Given the description of an element on the screen output the (x, y) to click on. 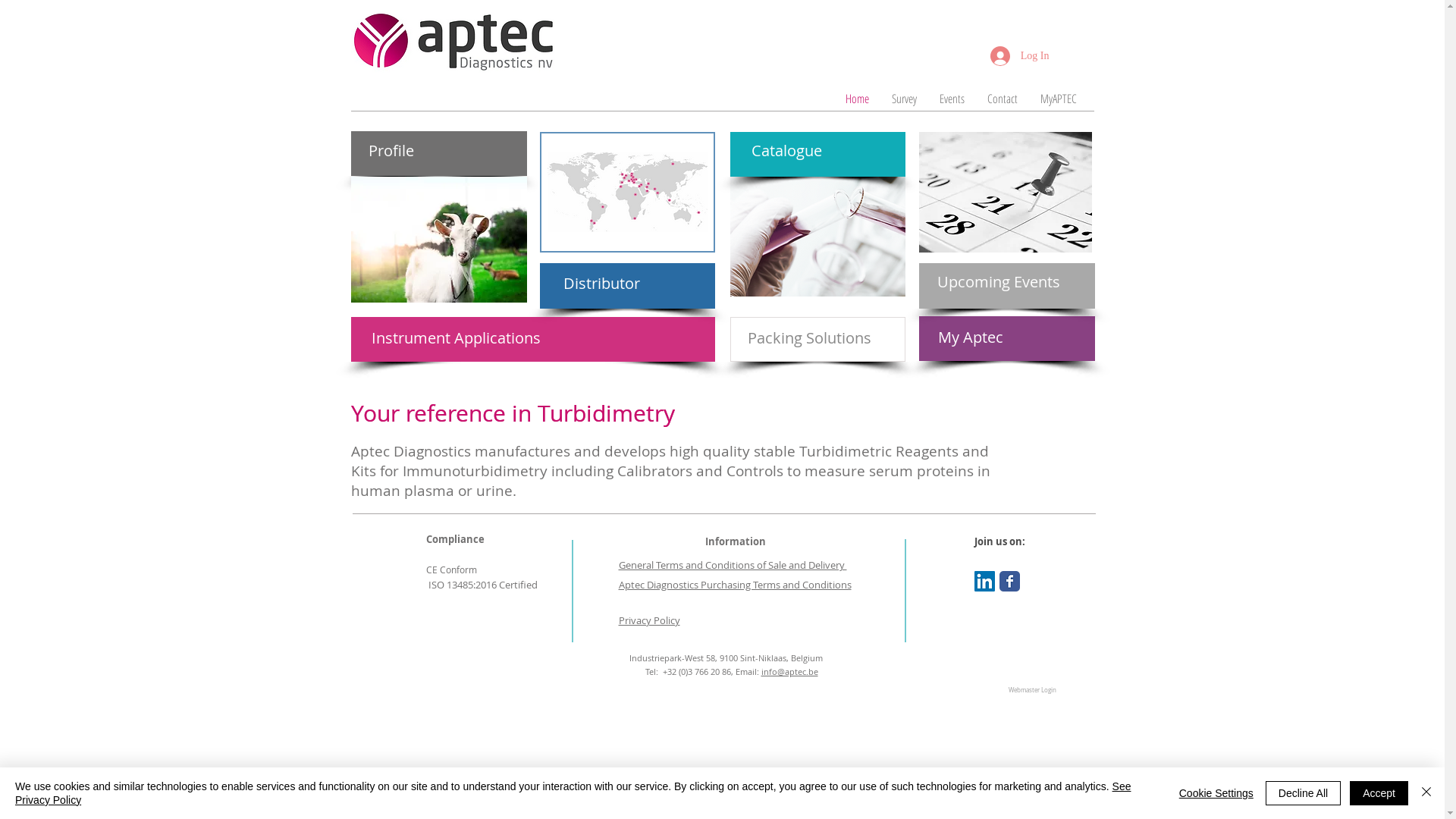
Upcoming Events Element type: text (1000, 281)
My Aptec Element type: text (978, 337)
Log In Element type: text (1019, 55)
info@aptec.be Element type: text (789, 671)
Distributor Element type: text (603, 283)
Survey Element type: text (903, 98)
Events Element type: text (951, 98)
Contact Element type: text (1001, 98)
Aptec Diagnostics Purchasing Terms and Conditions Element type: text (734, 583)
ISO 13485:2016 Certified Element type: text (482, 584)
General Terms and Conditions of Sale and Delivery  Element type: text (732, 563)
aptec-logo-final.png Element type: hover (453, 40)
Instrument Applications Element type: text (457, 337)
Profile Element type: text (409, 150)
MyAPTEC Element type: text (1057, 98)
Decline All Element type: text (1302, 793)
Webmaster Login Element type: text (1031, 690)
Accept Element type: text (1378, 793)
Packing Solutions Element type: text (810, 337)
Catalogue Element type: text (791, 150)
Home Element type: text (857, 98)
See Privacy Policy Element type: text (572, 793)
Privacy Policy Element type: text (649, 620)
